Given the description of an element on the screen output the (x, y) to click on. 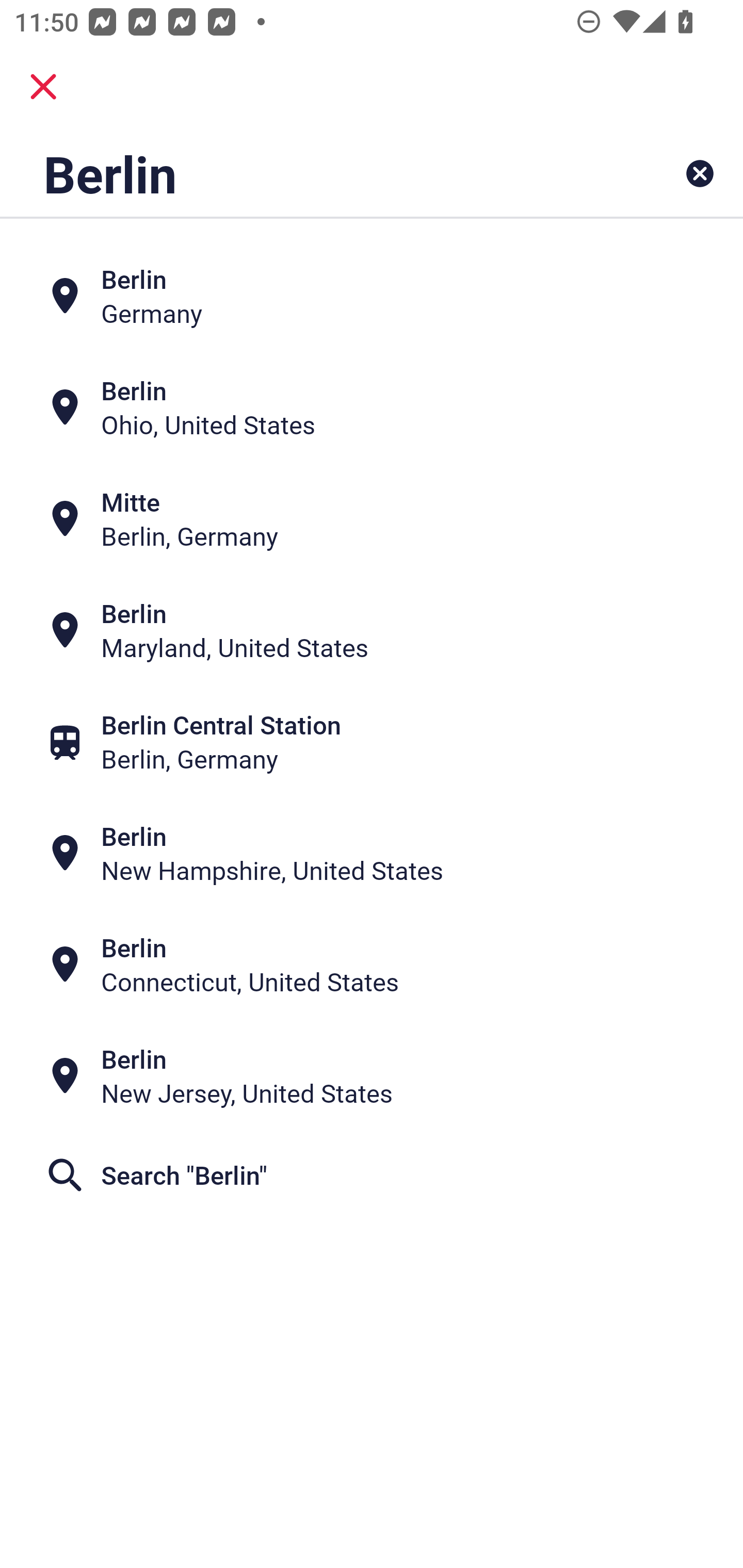
close. (43, 86)
Clear (699, 173)
Berlin (306, 173)
Berlin Germany (371, 295)
Berlin Ohio, United States (371, 406)
Mitte Berlin, Germany (371, 517)
Berlin Maryland, United States (371, 629)
Berlin Central Station Berlin, Germany (371, 742)
Berlin New Hampshire, United States (371, 853)
Berlin Connecticut, United States (371, 964)
Berlin New Jersey, United States (371, 1076)
Search "Berlin" (371, 1175)
